Given the description of an element on the screen output the (x, y) to click on. 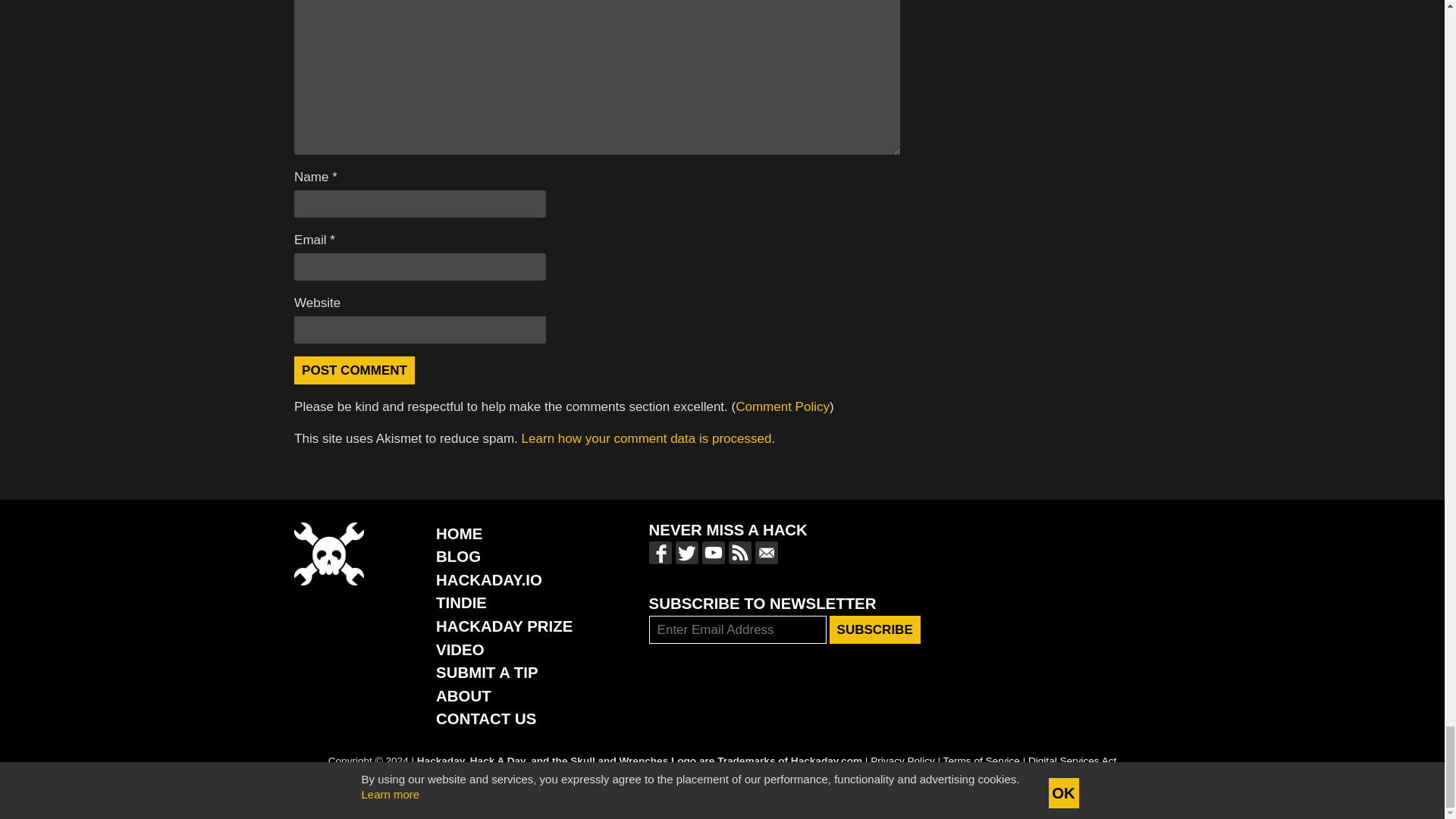
Post Comment (354, 370)
Build Something that Matters (503, 626)
Subscribe (874, 629)
